Given the description of an element on the screen output the (x, y) to click on. 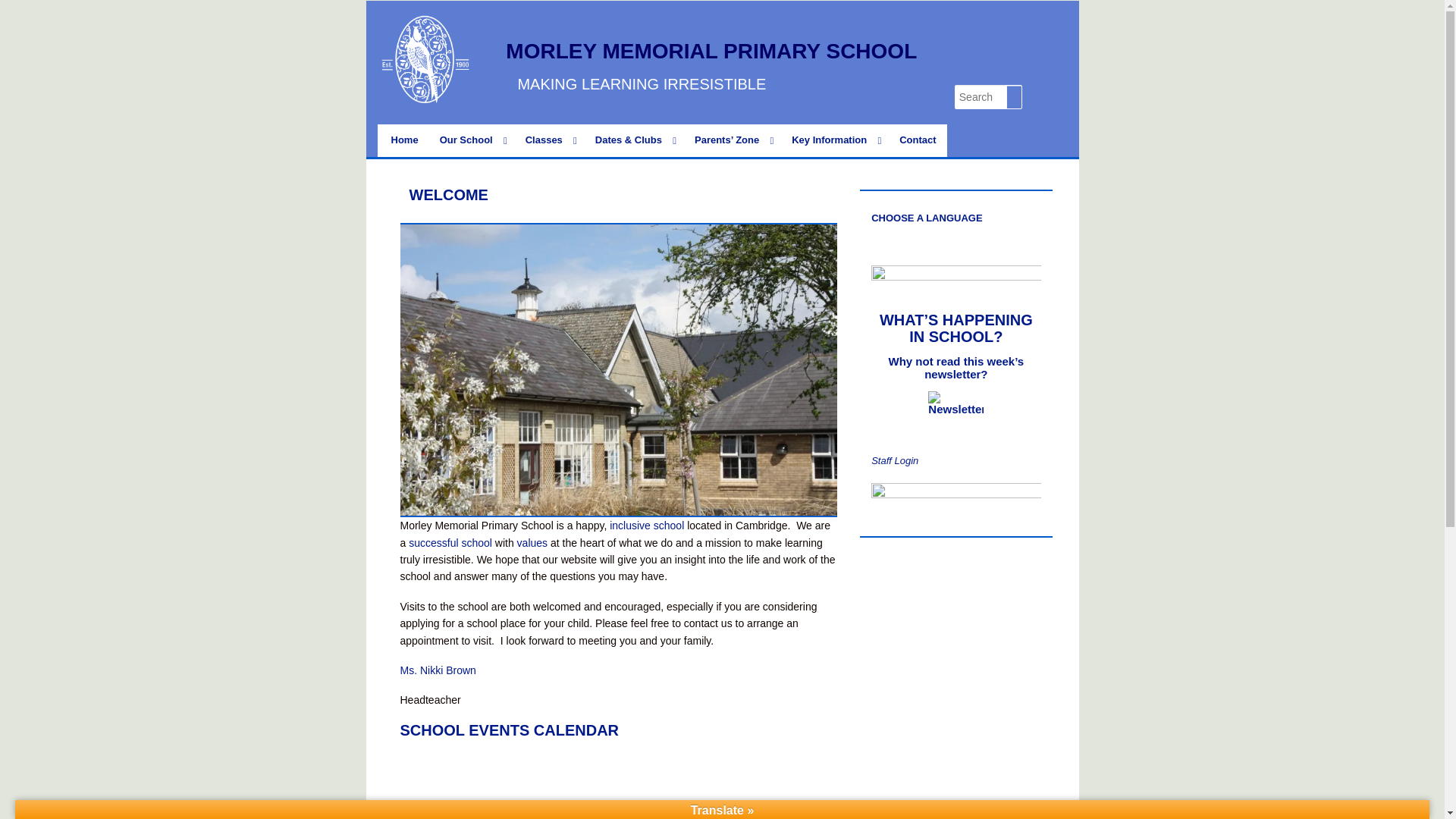
Classes (550, 140)
Home (404, 140)
Morley Memorial Primary School (711, 51)
Our School (472, 140)
MORLEY MEMORIAL PRIMARY SCHOOL (711, 51)
What We Do This Term (550, 140)
